Given the description of an element on the screen output the (x, y) to click on. 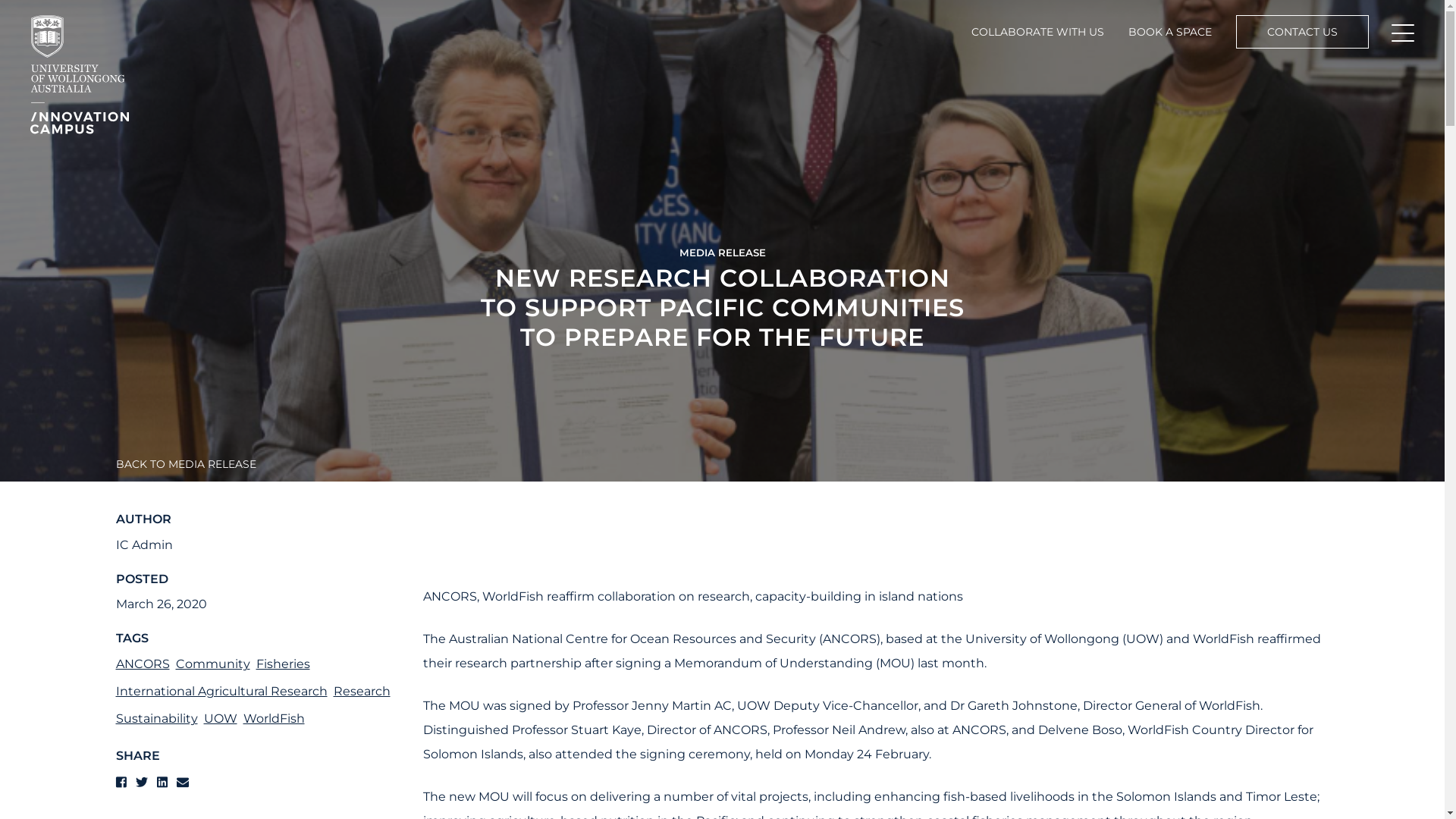
Share on Twitter Element type: hover (142, 782)
Community Element type: text (212, 664)
BOOK A SPACE Element type: text (1169, 31)
Research Element type: text (361, 691)
Sustainability Element type: text (156, 718)
Share on Facebook Element type: hover (121, 782)
CONTACT US Element type: text (1302, 31)
WorldFish Element type: text (273, 718)
COLLABORATE WITH US Element type: text (1037, 31)
UOW Element type: text (219, 718)
ANCORS Element type: text (142, 664)
International Agricultural Research Element type: text (220, 691)
Share via Email Element type: hover (181, 782)
Share on LinkedIn Element type: hover (162, 782)
Fisheries Element type: text (283, 664)
BACK TO MEDIA RELEASE Element type: text (191, 463)
